Given the description of an element on the screen output the (x, y) to click on. 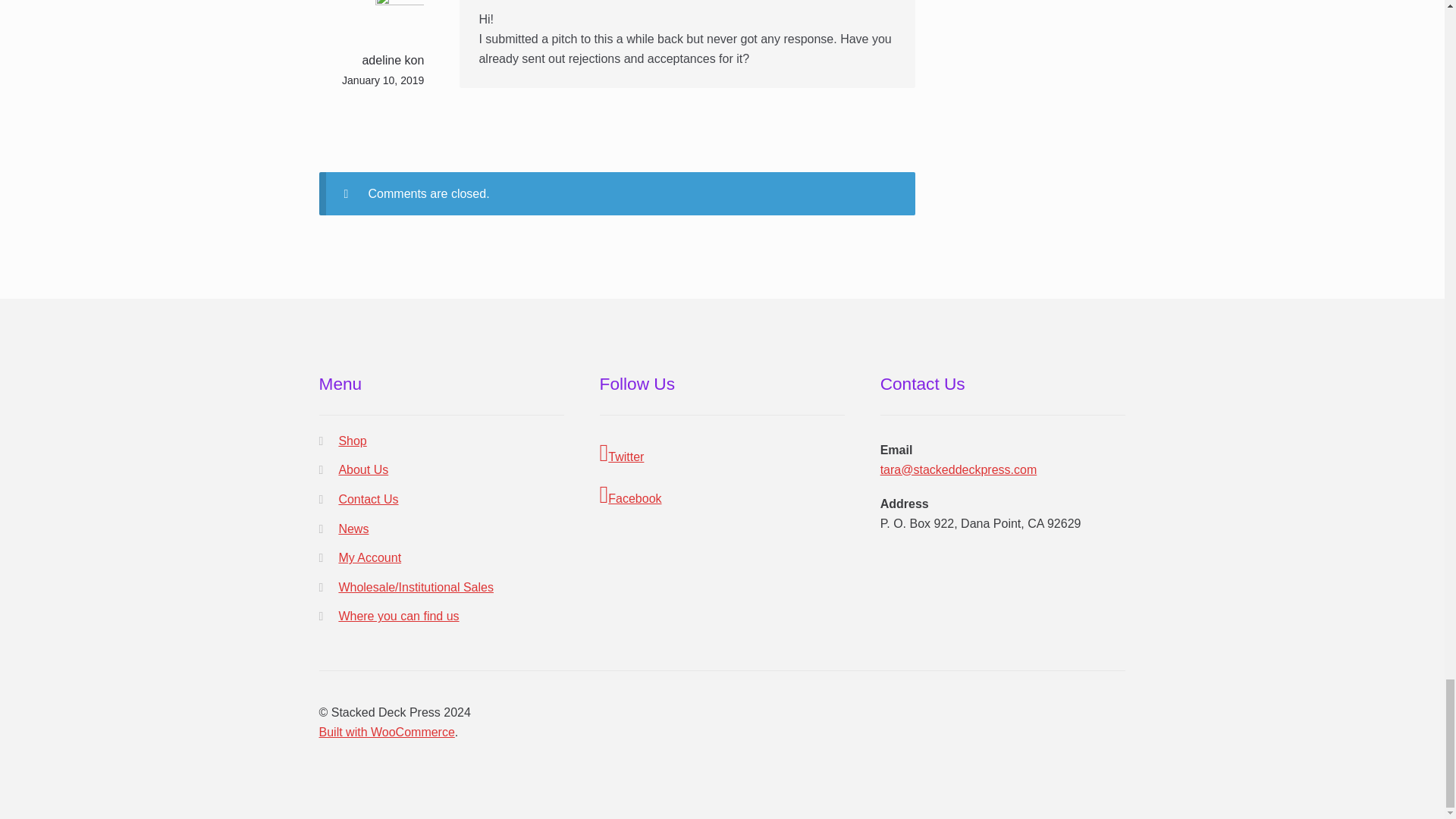
Visit Stacked Deck Press on Twitter (722, 453)
WooCommerce - The Best eCommerce Platform for WordPress (386, 731)
Visit Stacked Deck Press on Facebook (722, 495)
